Given the description of an element on the screen output the (x, y) to click on. 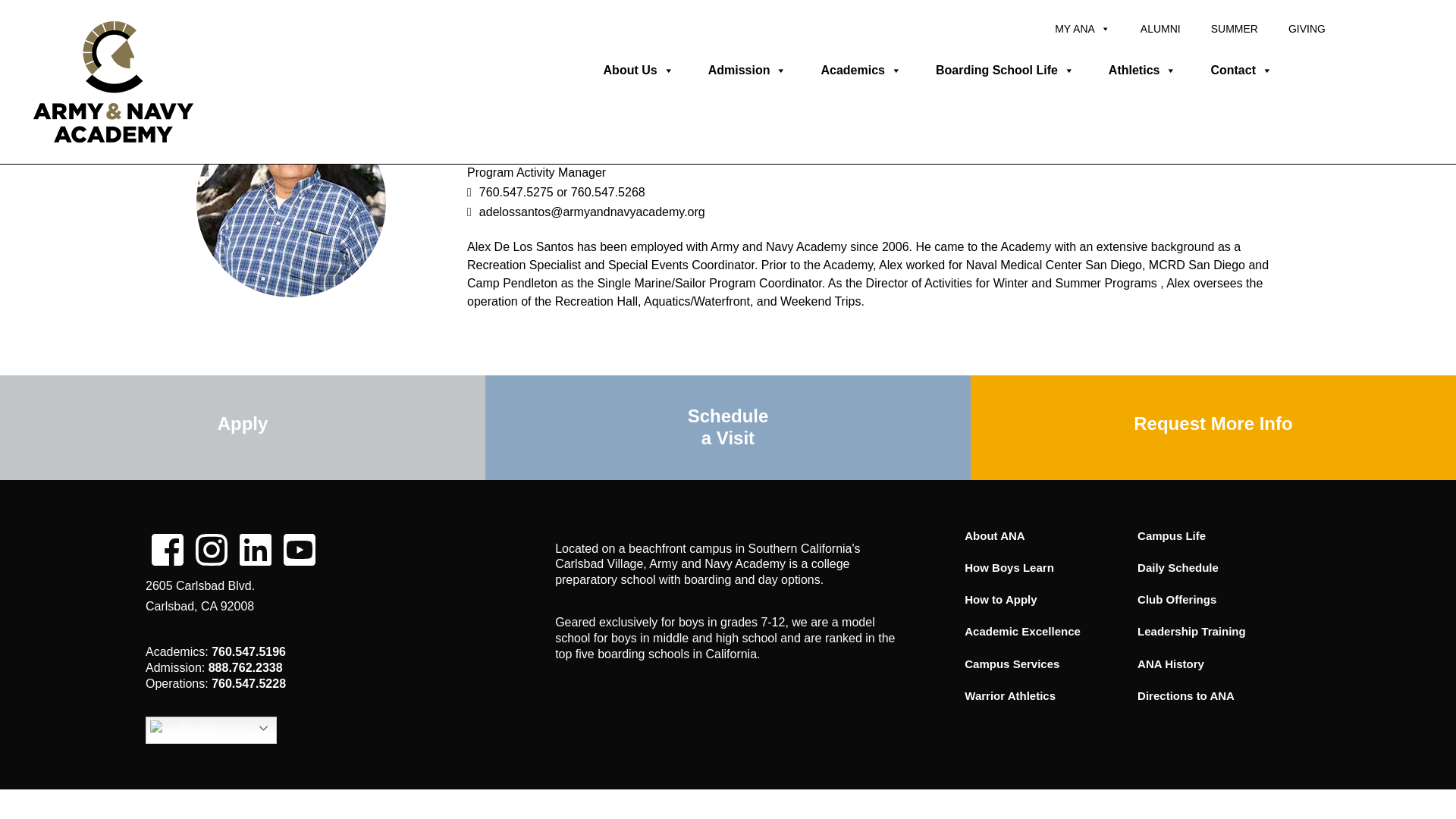
Admission (745, 69)
About Us (636, 69)
GIVING (1306, 28)
Boarding School Life (1002, 69)
Academics (858, 69)
MY ANA (1082, 28)
ALUMNI (1160, 28)
SUMMER (1233, 28)
